Given the description of an element on the screen output the (x, y) to click on. 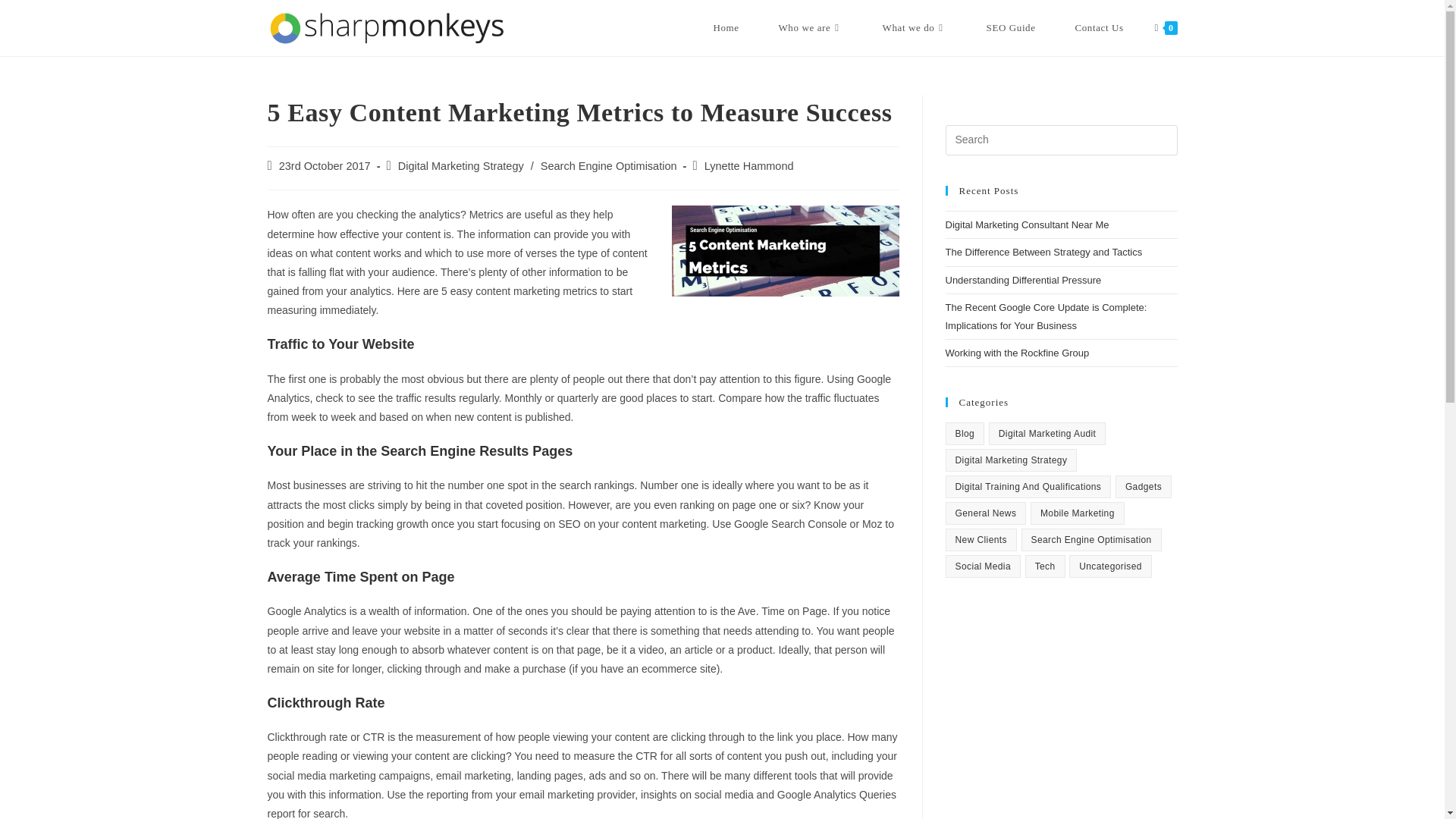
What we do (914, 28)
SEO Guide (1010, 28)
Who we are (810, 28)
Posts by Lynette Hammond (748, 165)
Contact Us (1098, 28)
Home (726, 28)
